Given the description of an element on the screen output the (x, y) to click on. 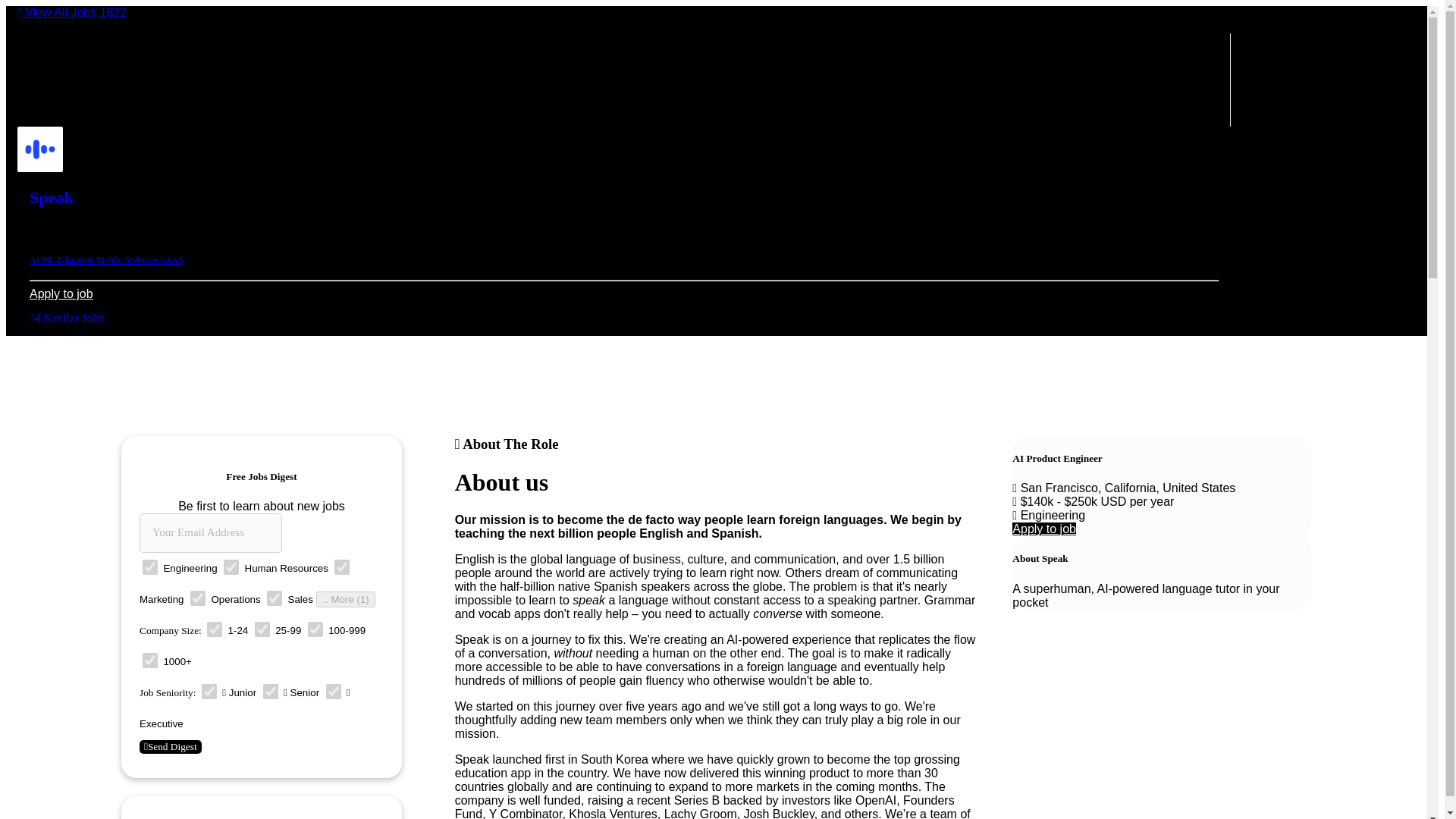
manager (270, 691)
Sales (274, 598)
growth (315, 629)
validation (261, 629)
executive (333, 691)
Marketing (341, 566)
Software (142, 259)
Apply to job (1043, 528)
Mobile (110, 259)
SAAS (171, 259)
Speak (50, 197)
AI ML (42, 259)
4 Similar Jobs (66, 318)
Operations (197, 598)
scale (149, 660)
